Given the description of an element on the screen output the (x, y) to click on. 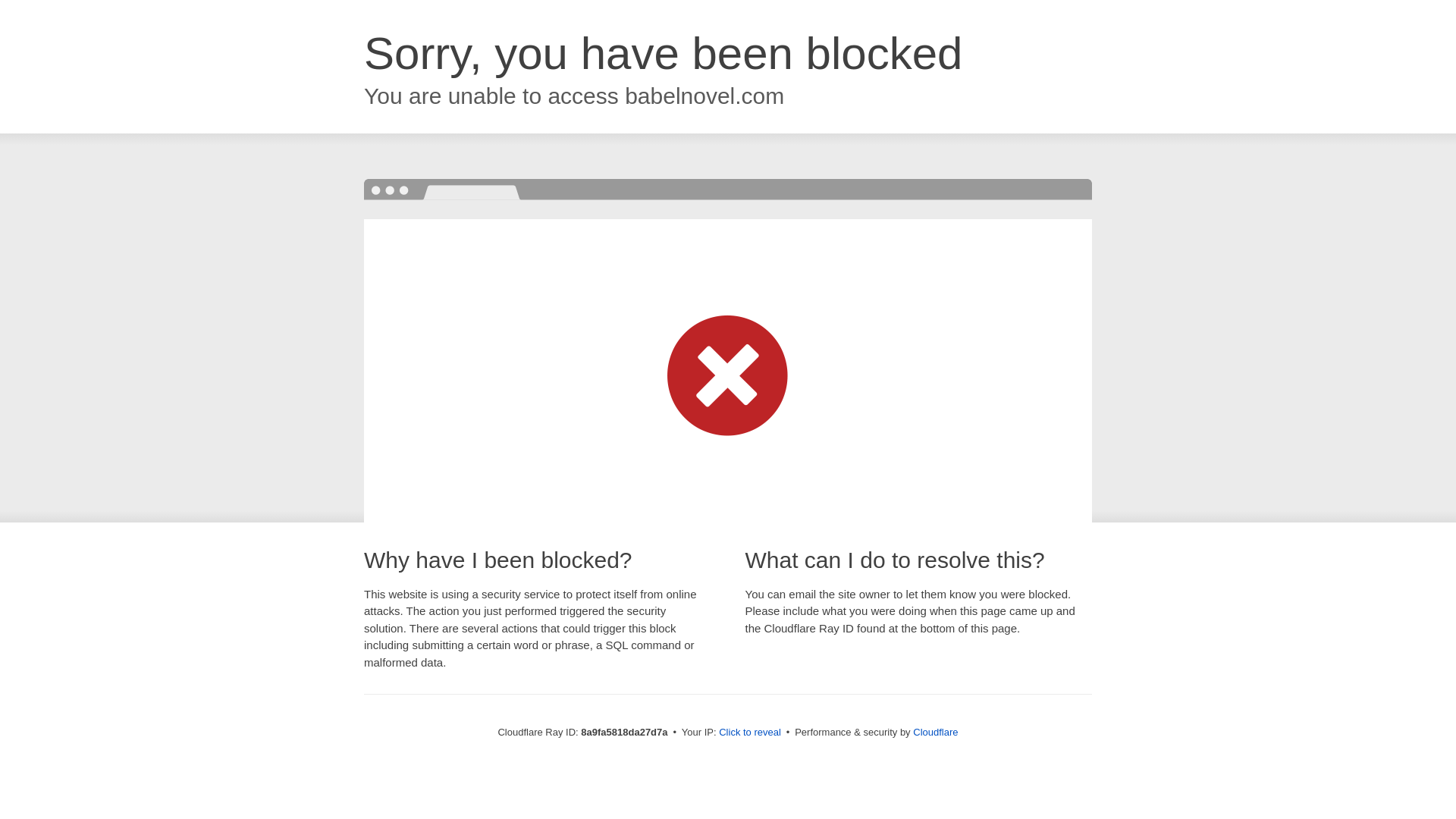
Click to reveal (749, 732)
Cloudflare (935, 731)
